Given the description of an element on the screen output the (x, y) to click on. 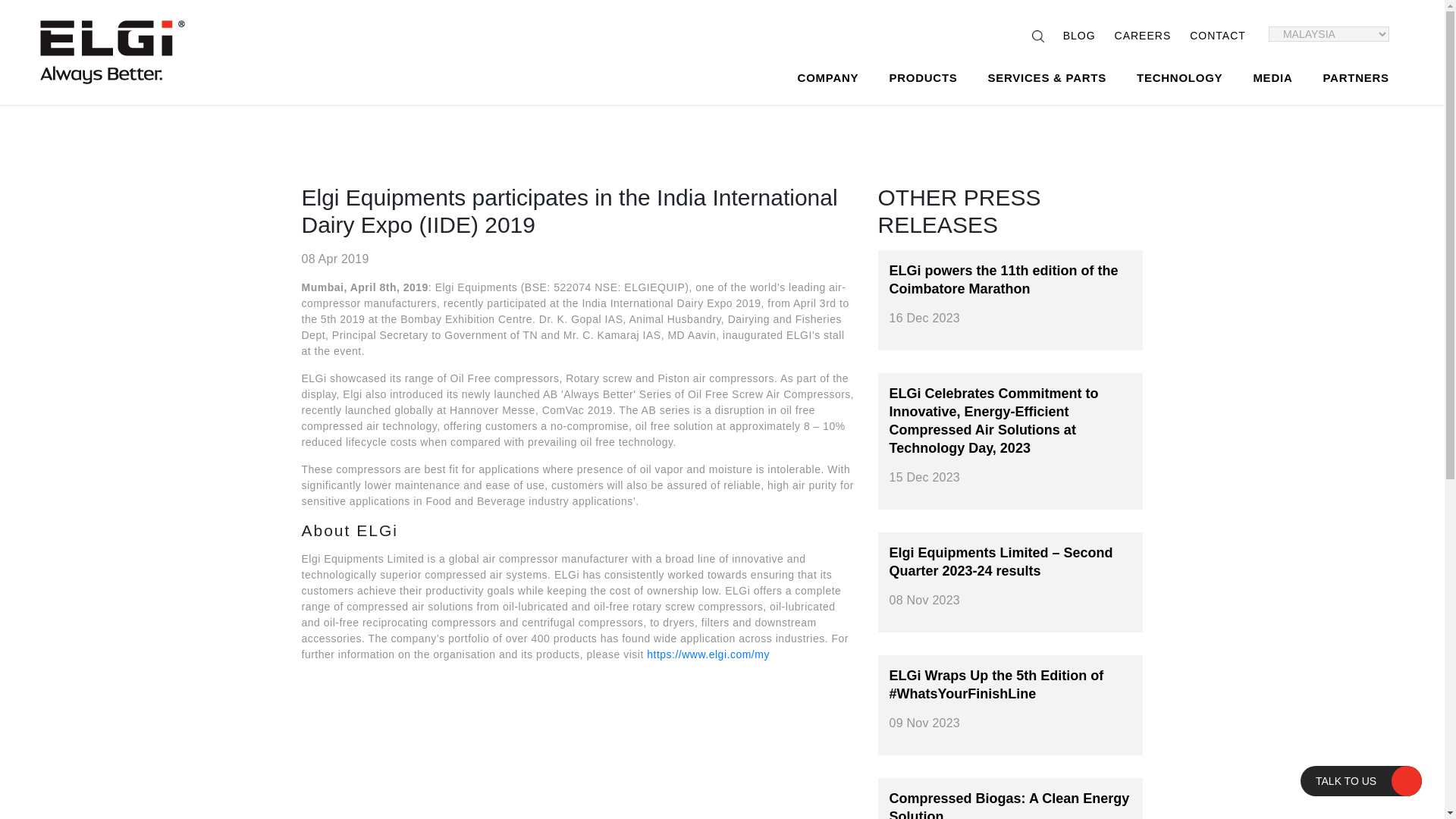
CAREERS (1143, 35)
COMPANY (829, 78)
MEDIA (1272, 78)
BLOG (1079, 35)
PRODUCTS (922, 78)
PARTNERS (1355, 78)
TECHNOLOGY (1179, 78)
CONTACT (1217, 35)
